Given the description of an element on the screen output the (x, y) to click on. 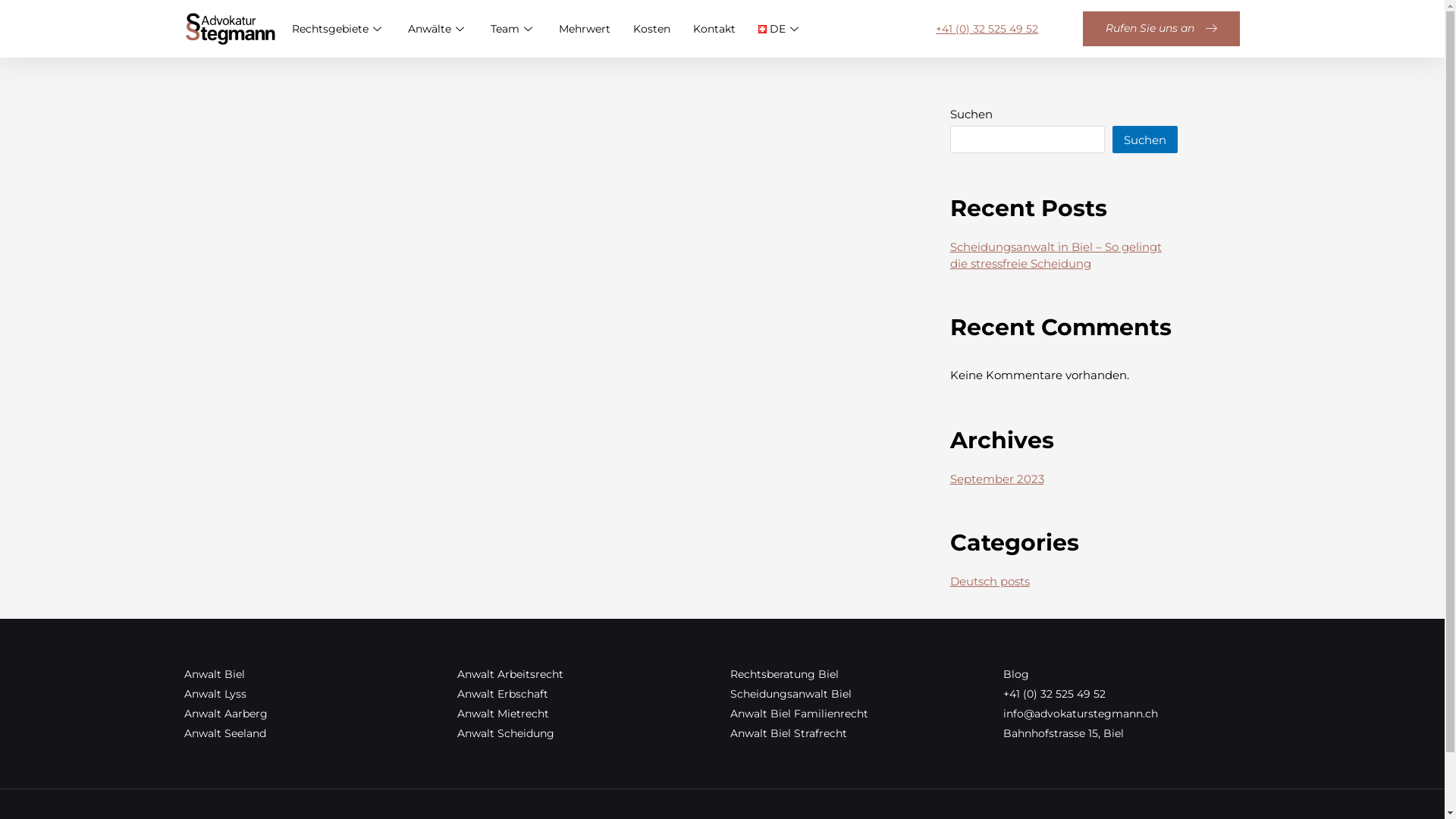
Anwalt Scheidung Element type: text (585, 733)
Anwalt Seeland Element type: text (312, 733)
Kosten Element type: text (663, 28)
Bahnhofstrasse 15, Biel Element type: text (1131, 733)
Scheidungsanwalt Biel Element type: text (858, 693)
Anwalt Biel Strafrecht Element type: text (858, 733)
Anwalt Aarberg Element type: text (312, 713)
Anwalt Mietrecht Element type: text (585, 713)
Mehrwert Element type: text (595, 28)
Deutsch posts Element type: text (989, 580)
Rechtsgebiete Element type: text (349, 28)
September 2023 Element type: text (996, 478)
Anwalt Biel Element type: text (312, 674)
Anwalt Biel Familienrecht Element type: text (858, 713)
+41 (0) 32 525 49 52 Element type: text (1131, 693)
Anwalt Erbschaft Element type: text (585, 693)
Anwalt Lyss Element type: text (312, 693)
Rechtsberatung Biel Element type: text (858, 674)
Blog Element type: text (1131, 674)
Suchen Element type: text (1143, 139)
Kontakt Element type: text (725, 28)
Team Element type: text (524, 28)
info@advokaturstegmann.ch Element type: text (1131, 713)
Anwalt Arbeitsrecht Element type: text (585, 674)
+41 (0) 32 525 49 52 Element type: text (986, 28)
Rufen Sie uns an Element type: text (1160, 28)
DE Element type: text (791, 28)
